Given the description of an element on the screen output the (x, y) to click on. 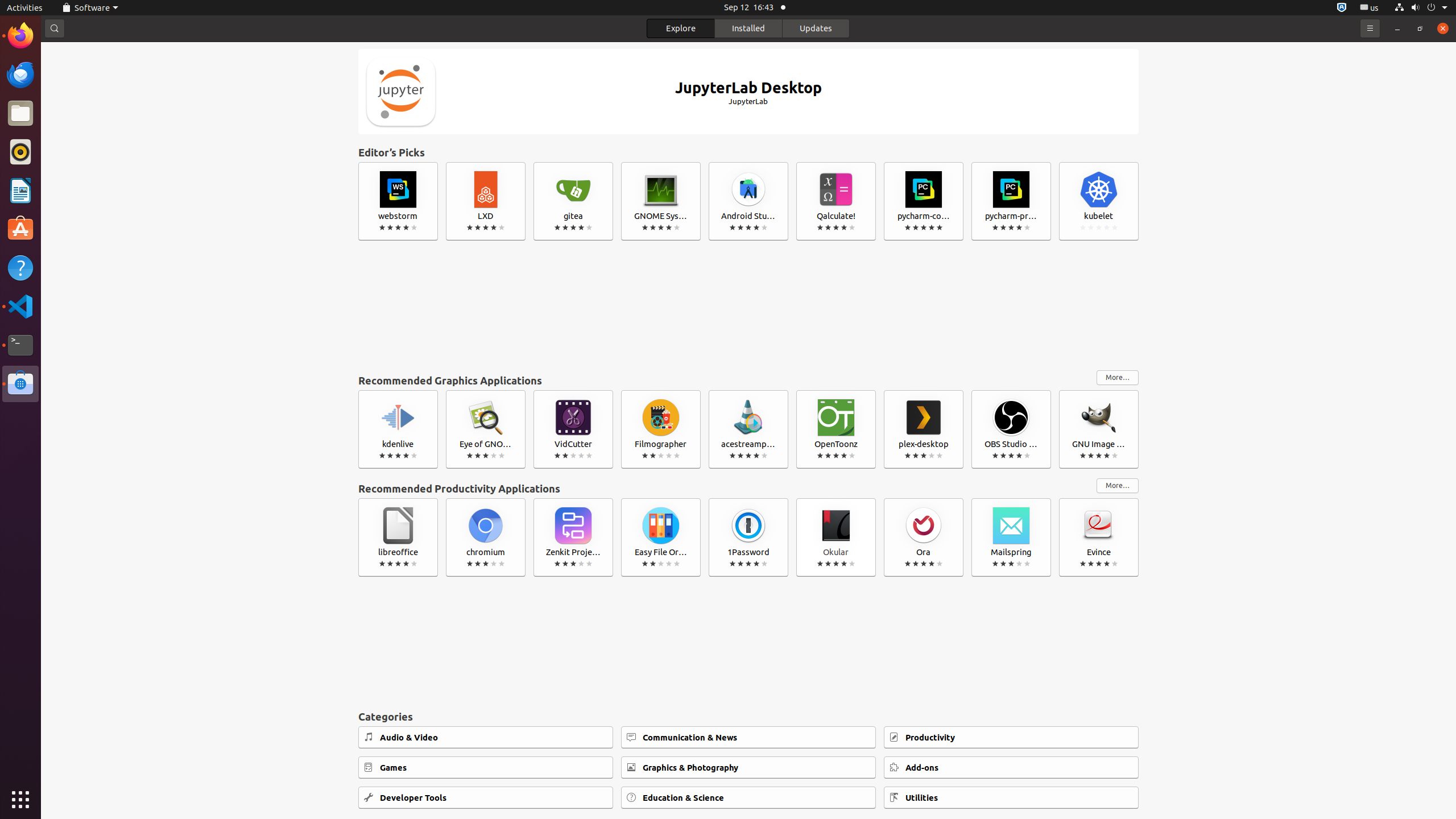
chromium Element type: push-button (485, 537)
Firefox Web Browser Element type: push-button (20, 35)
